Given the description of an element on the screen output the (x, y) to click on. 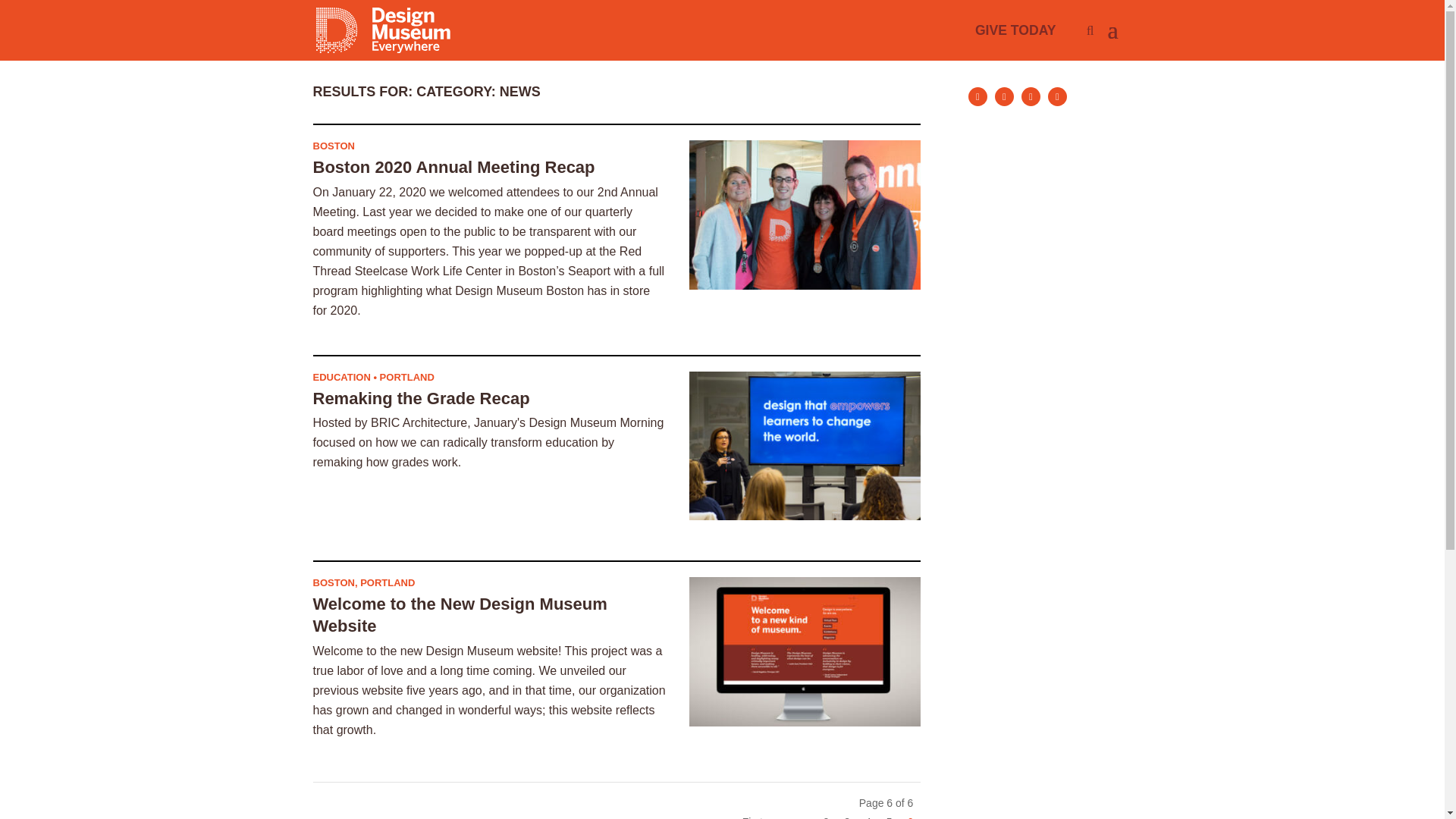
BOSTON (333, 582)
Boston 2020 Annual Meeting Recap (453, 167)
GIVE TODAY (1016, 29)
Our second city. Named by a coin toss. City of Roses. PDX. (386, 582)
Remaking the Grade Recap (421, 398)
Page 2 (825, 816)
Our second city. Named by a coin toss. City of Roses. PDX. (406, 377)
4 (868, 816)
Page 3 (846, 816)
PORTLAND (406, 377)
PORTLAND (386, 582)
BOSTON (333, 145)
EDUCATION (341, 377)
